Given the description of an element on the screen output the (x, y) to click on. 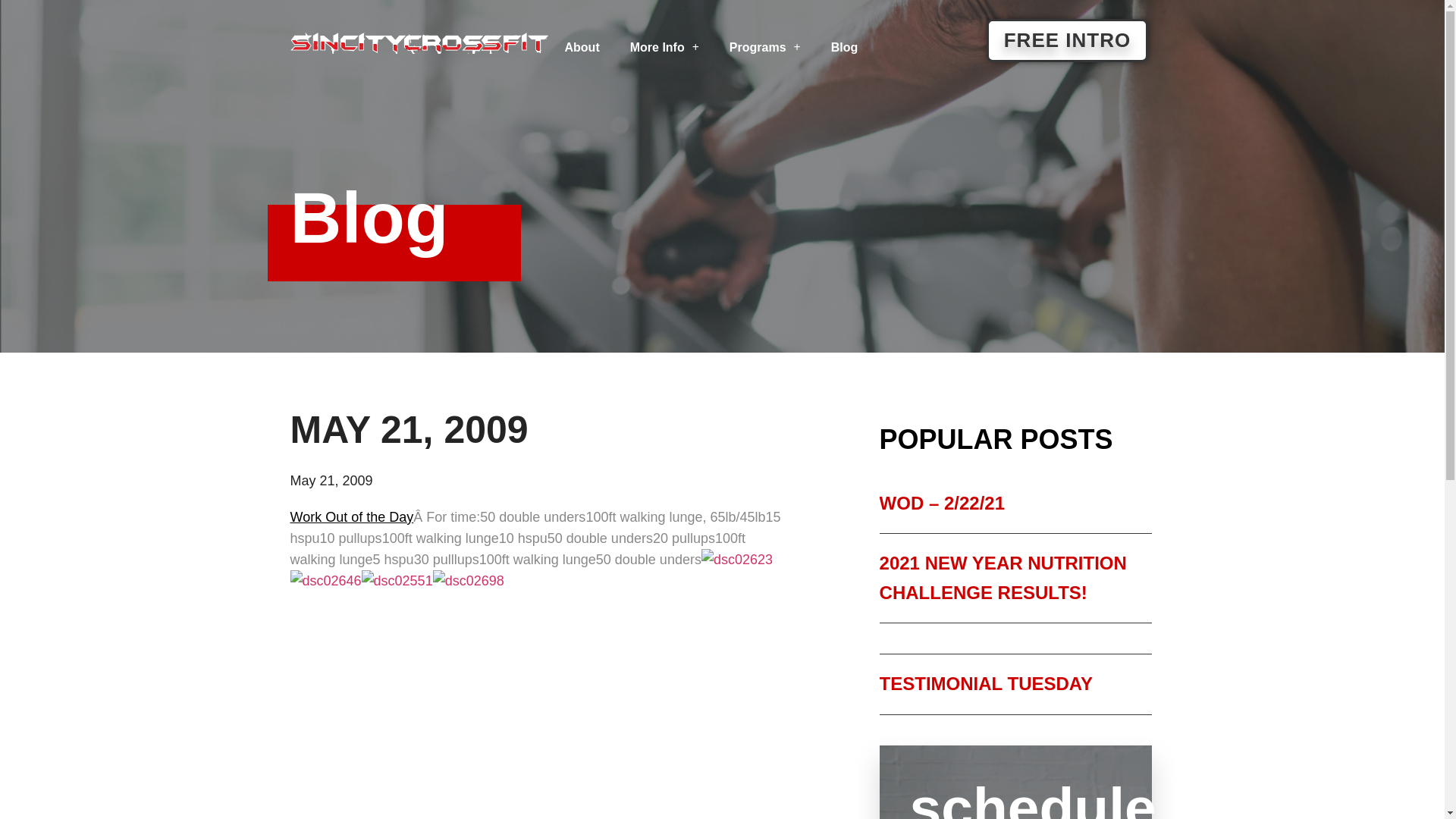
Programs (764, 47)
About (581, 47)
dsc02551 (396, 580)
Blog (844, 47)
TESTIMONIAL TUESDAY (986, 683)
More Info (664, 47)
dsc02698 (467, 580)
dsc02646 (325, 580)
dsc02623 (737, 559)
2021 NEW YEAR NUTRITION CHALLENGE RESULTS! (1002, 576)
